Given the description of an element on the screen output the (x, y) to click on. 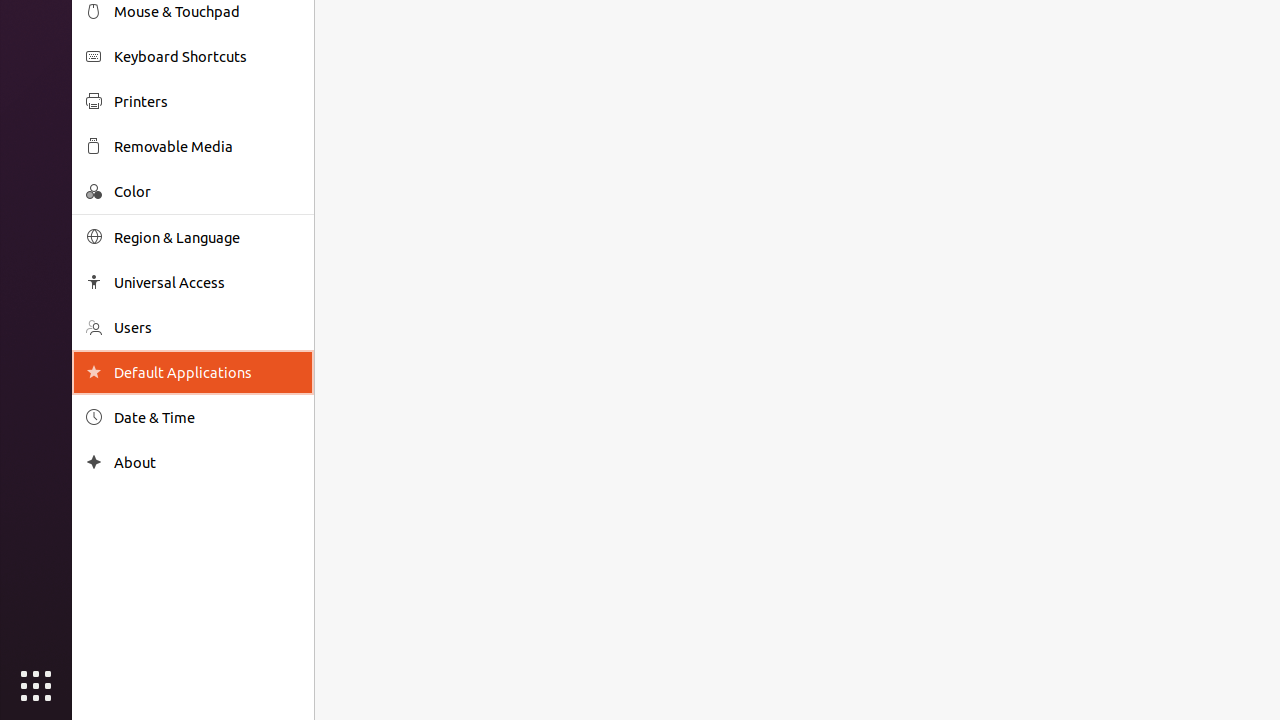
Region & Language Element type: label (207, 237)
Date & Time Element type: label (207, 417)
Removable Media Element type: label (207, 146)
About Element type: icon (94, 462)
